Given the description of an element on the screen output the (x, y) to click on. 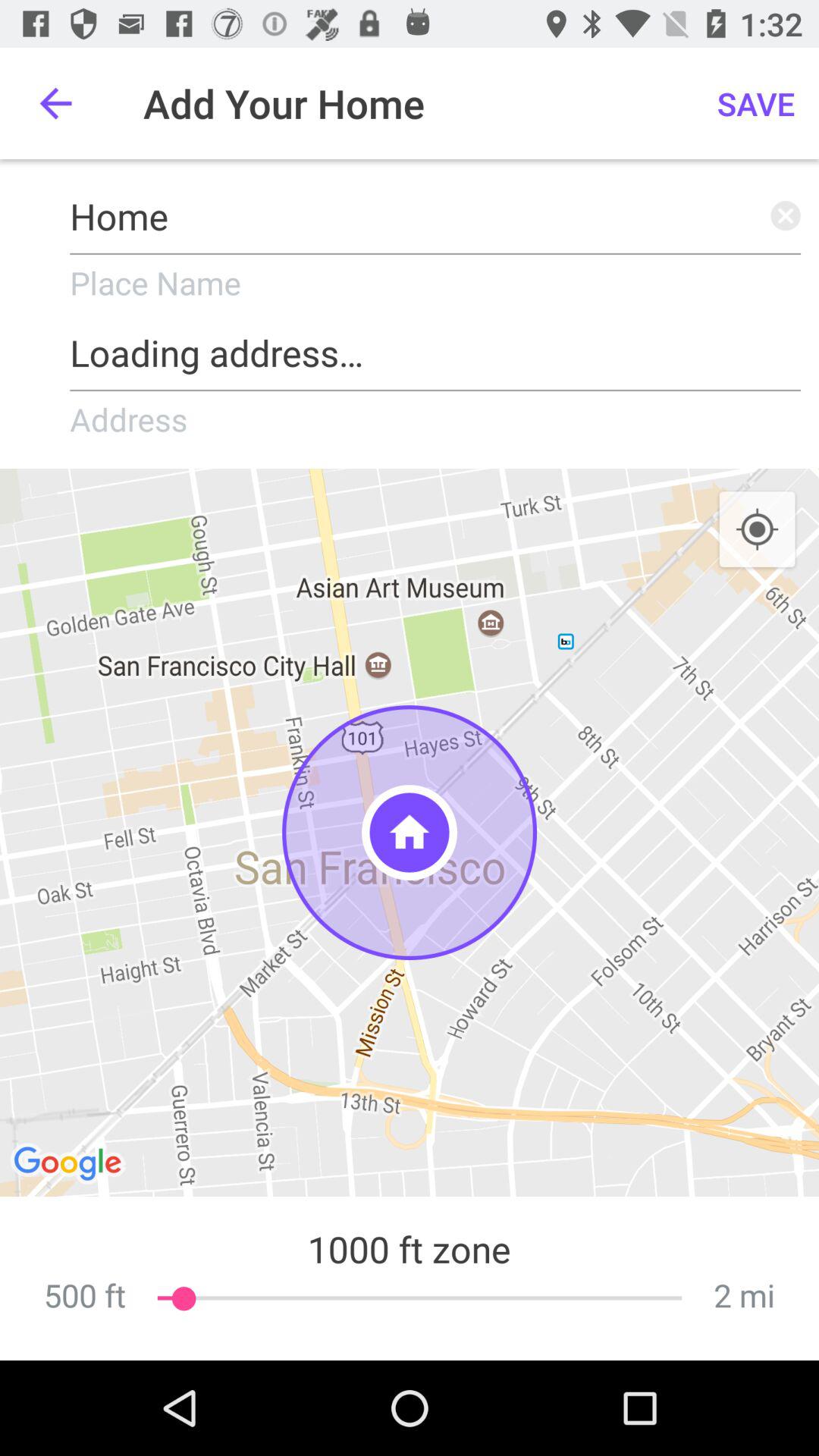
choose the icon above address item (434, 347)
